Given the description of an element on the screen output the (x, y) to click on. 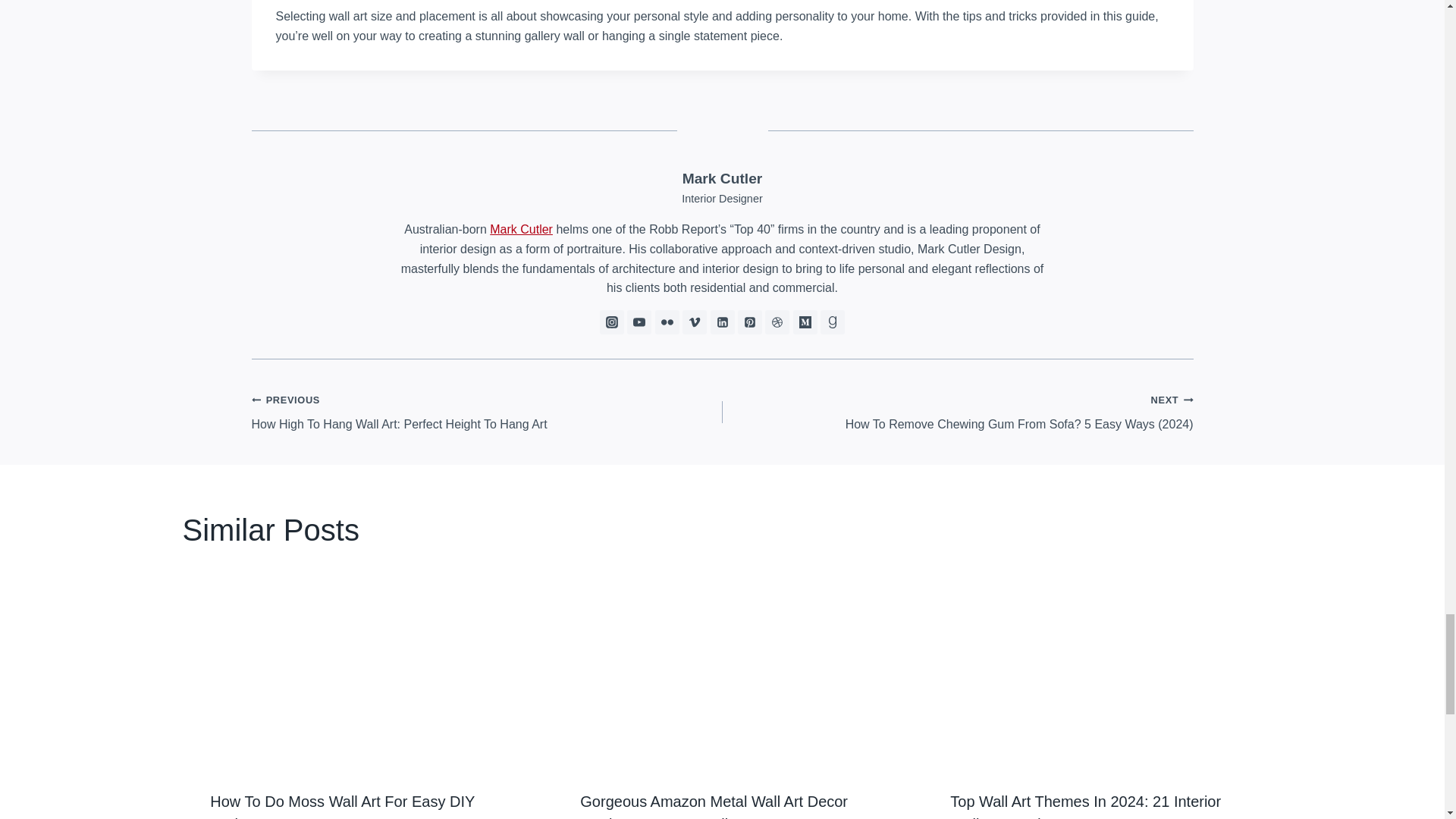
Follow Mark Cutler on Vimeo (694, 322)
Posts by Mark Cutler (722, 178)
Follow Mark Cutler on Medium (804, 322)
Follow Mark Cutler on Flickr (667, 322)
Follow Mark Cutler on Goodreads (832, 322)
Follow Mark Cutler on Pinterest (749, 322)
Follow Mark Cutler on Linkedin (721, 322)
Follow Mark Cutler on Instagram (611, 322)
Follow Mark Cutler on Youtube (638, 322)
Follow Mark Cutler on Dribbble (777, 322)
